Given the description of an element on the screen output the (x, y) to click on. 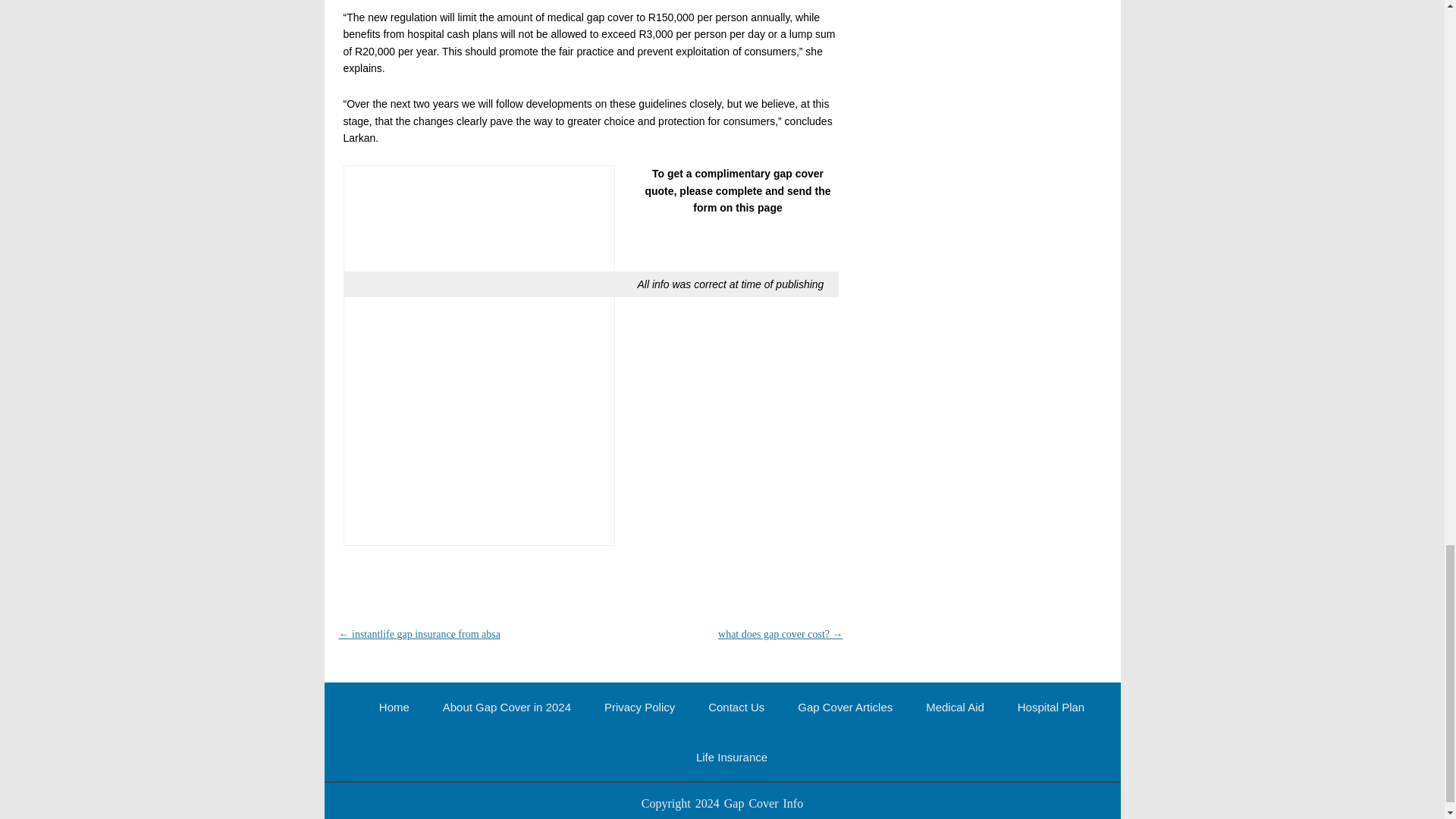
Medical Aid (955, 707)
Home (393, 707)
Hospital Plan (1050, 707)
Gap Cover Articles (844, 707)
Contact Us (735, 707)
About Gap Cover in 2024 (506, 707)
Privacy Policy (639, 707)
Life Insurance (731, 757)
